Given the description of an element on the screen output the (x, y) to click on. 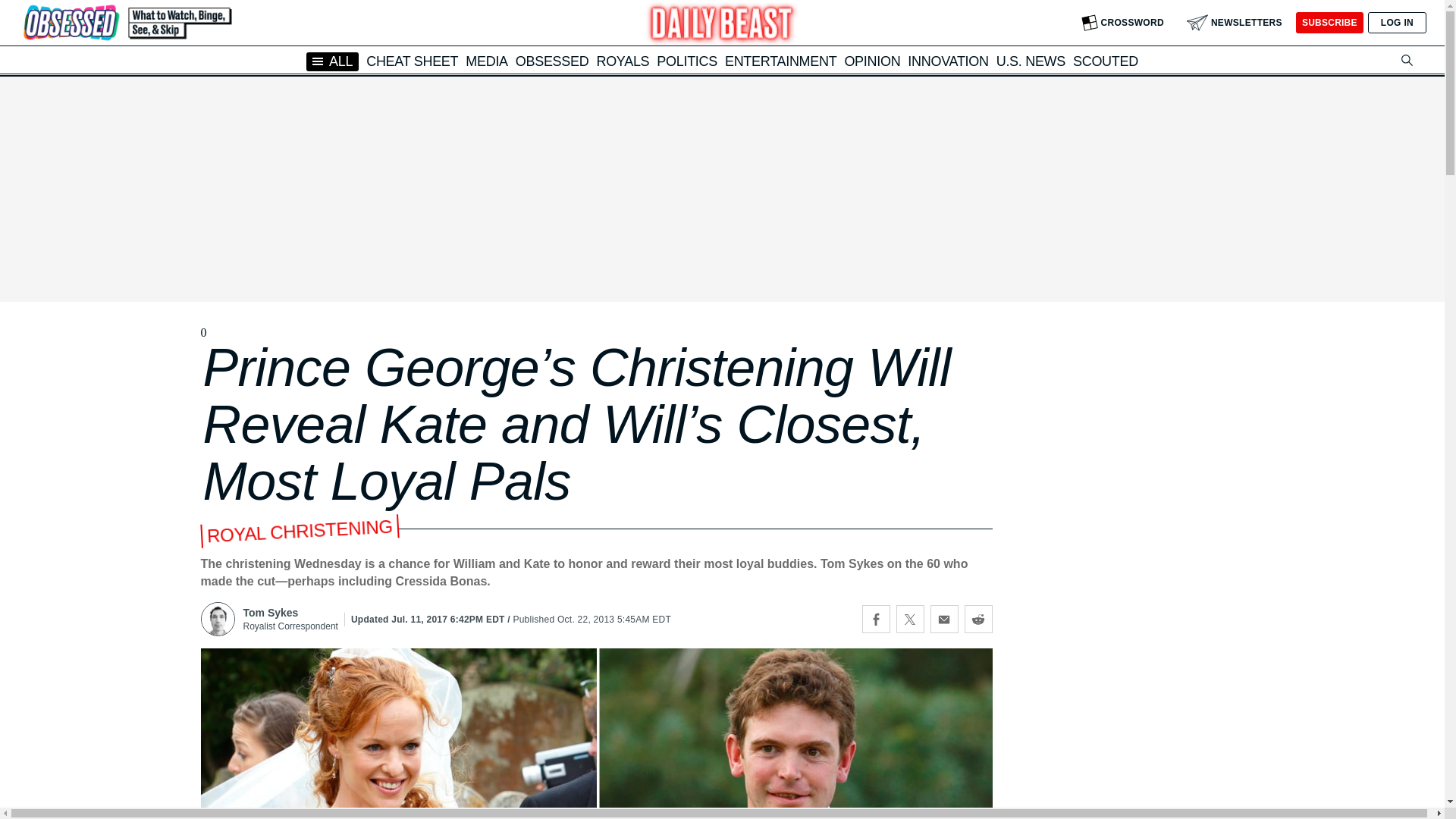
ALL (331, 60)
ROYALS (622, 60)
LOG IN (1397, 22)
SCOUTED (1105, 60)
U.S. NEWS (1030, 60)
NEWSLETTERS (1234, 22)
INNOVATION (947, 60)
OPINION (871, 60)
OBSESSED (552, 60)
POLITICS (686, 60)
ENTERTAINMENT (780, 60)
MEDIA (486, 60)
SUBSCRIBE (1328, 22)
CHEAT SHEET (412, 60)
CROSSWORD (1122, 22)
